Given the description of an element on the screen output the (x, y) to click on. 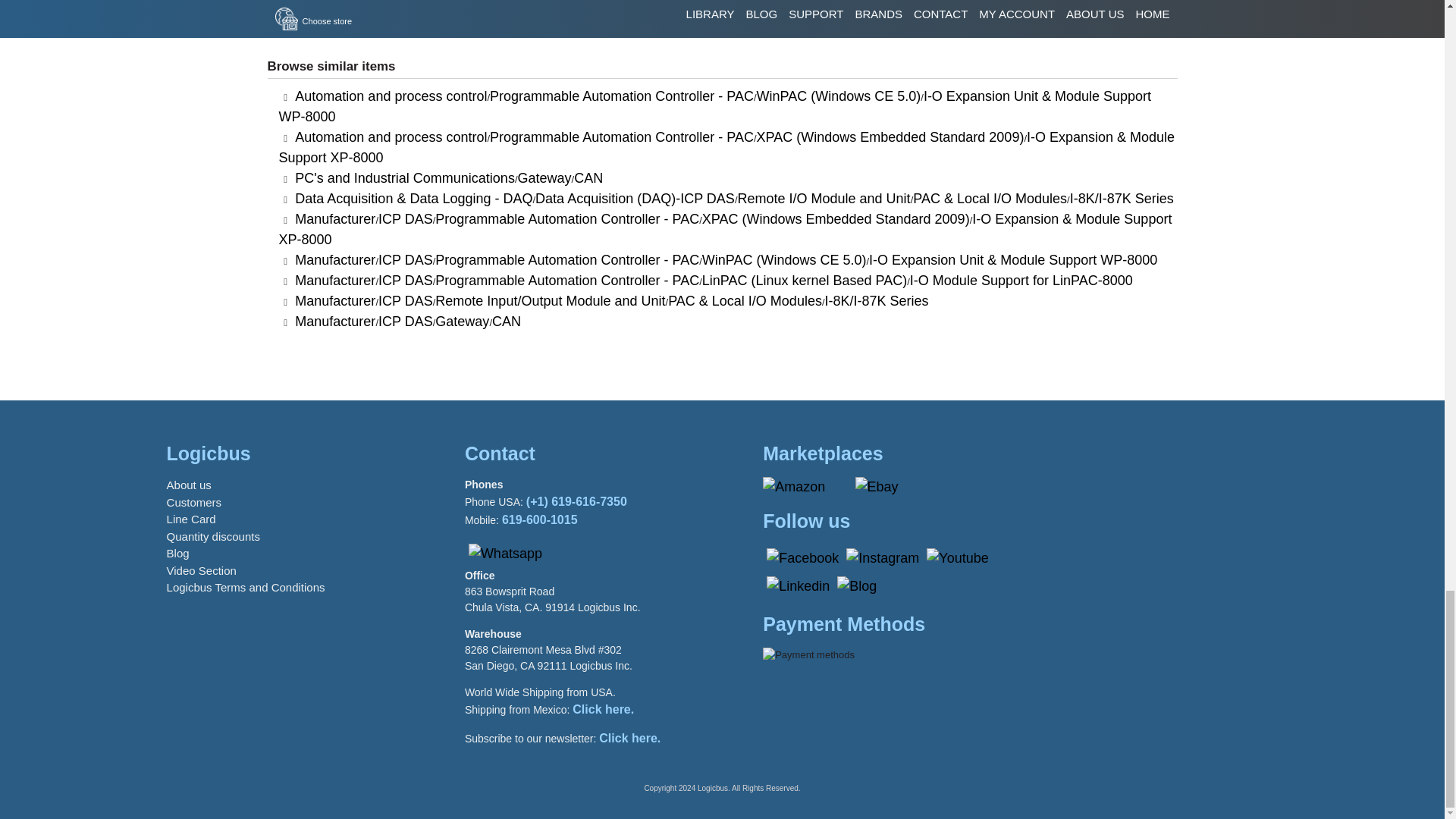
Customers (194, 502)
Line Card (191, 518)
Follow us on Instagram (883, 558)
Video Section (201, 570)
About us (189, 484)
Suscribe to our Newsletter (629, 738)
Follow us on Facebook (802, 558)
Write us on Whatsapp (505, 553)
Shipping from Mexico (602, 708)
Logicbus Terms and Conditions (245, 586)
